Given the description of an element on the screen output the (x, y) to click on. 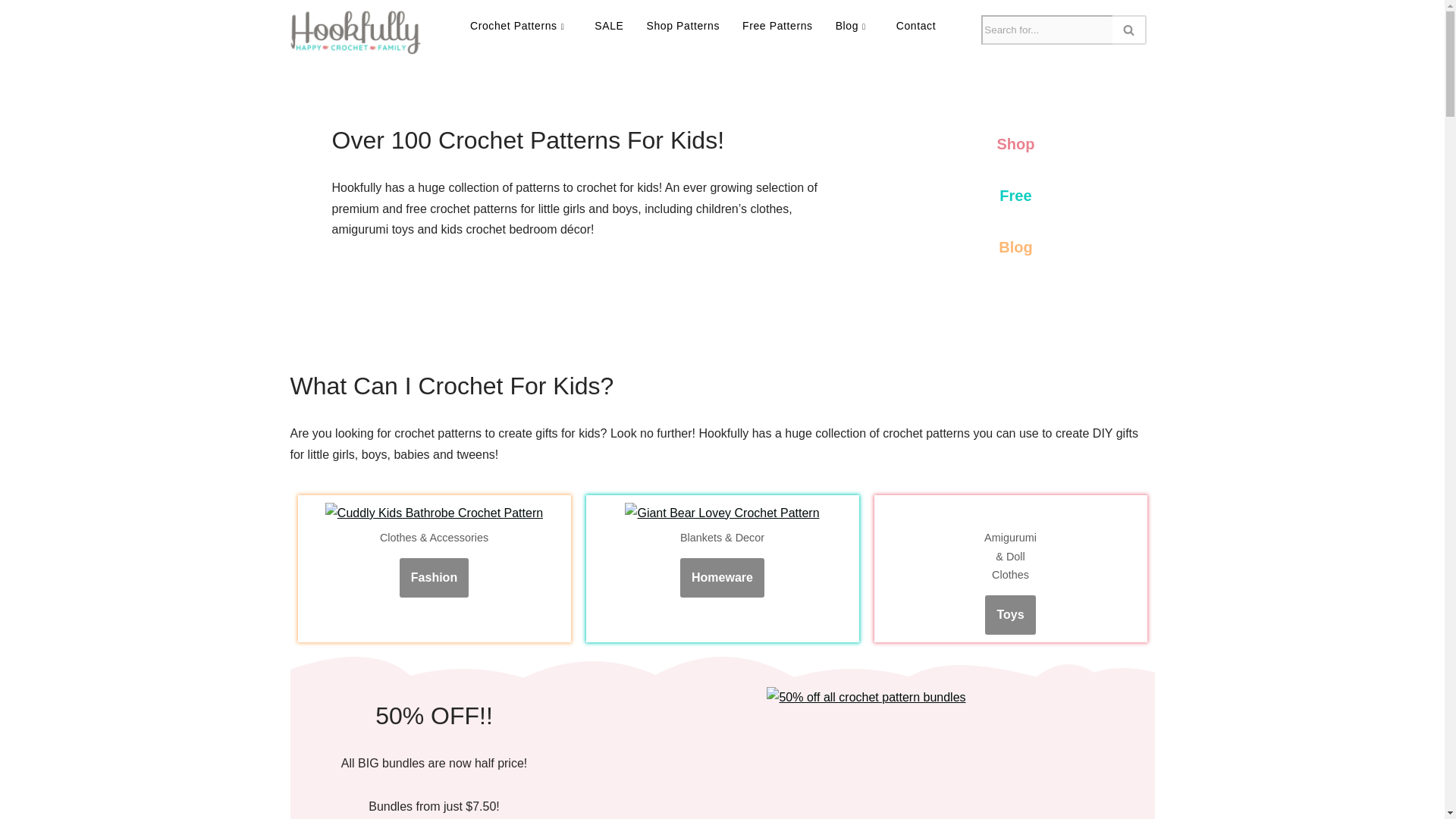
Shop Patterns (683, 26)
SALE (608, 26)
Contact (916, 26)
Skip to content (11, 31)
Free Patterns (777, 26)
Blog (854, 26)
Crochet Patterns (520, 26)
